Given the description of an element on the screen output the (x, y) to click on. 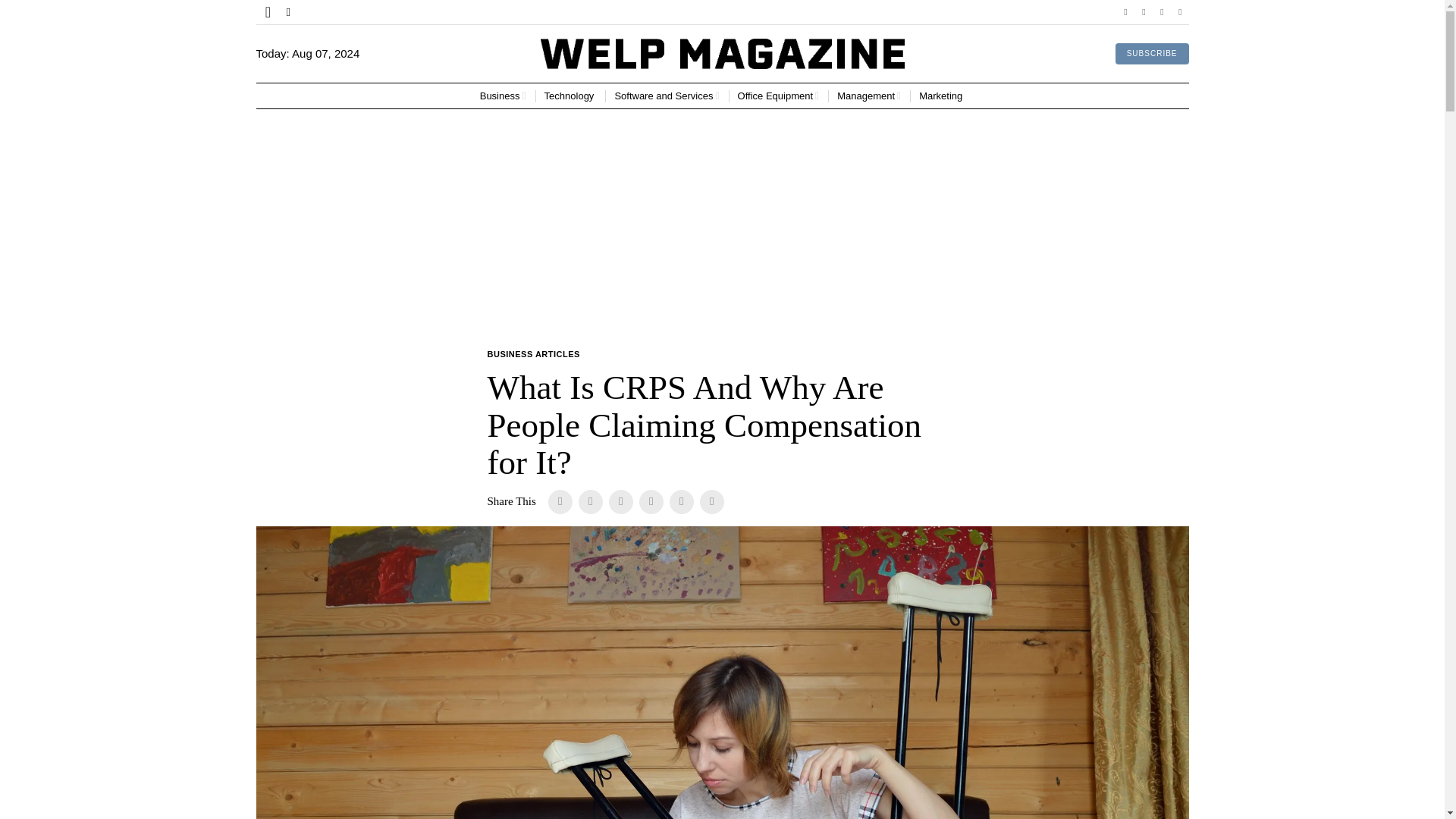
BUSINESS ARTICLES (532, 354)
Software and Services (666, 95)
Marketing (942, 95)
SUBSCRIBE (1152, 53)
Management (869, 95)
Technology (570, 95)
Business (502, 95)
Office Equipment (778, 95)
